Given the description of an element on the screen output the (x, y) to click on. 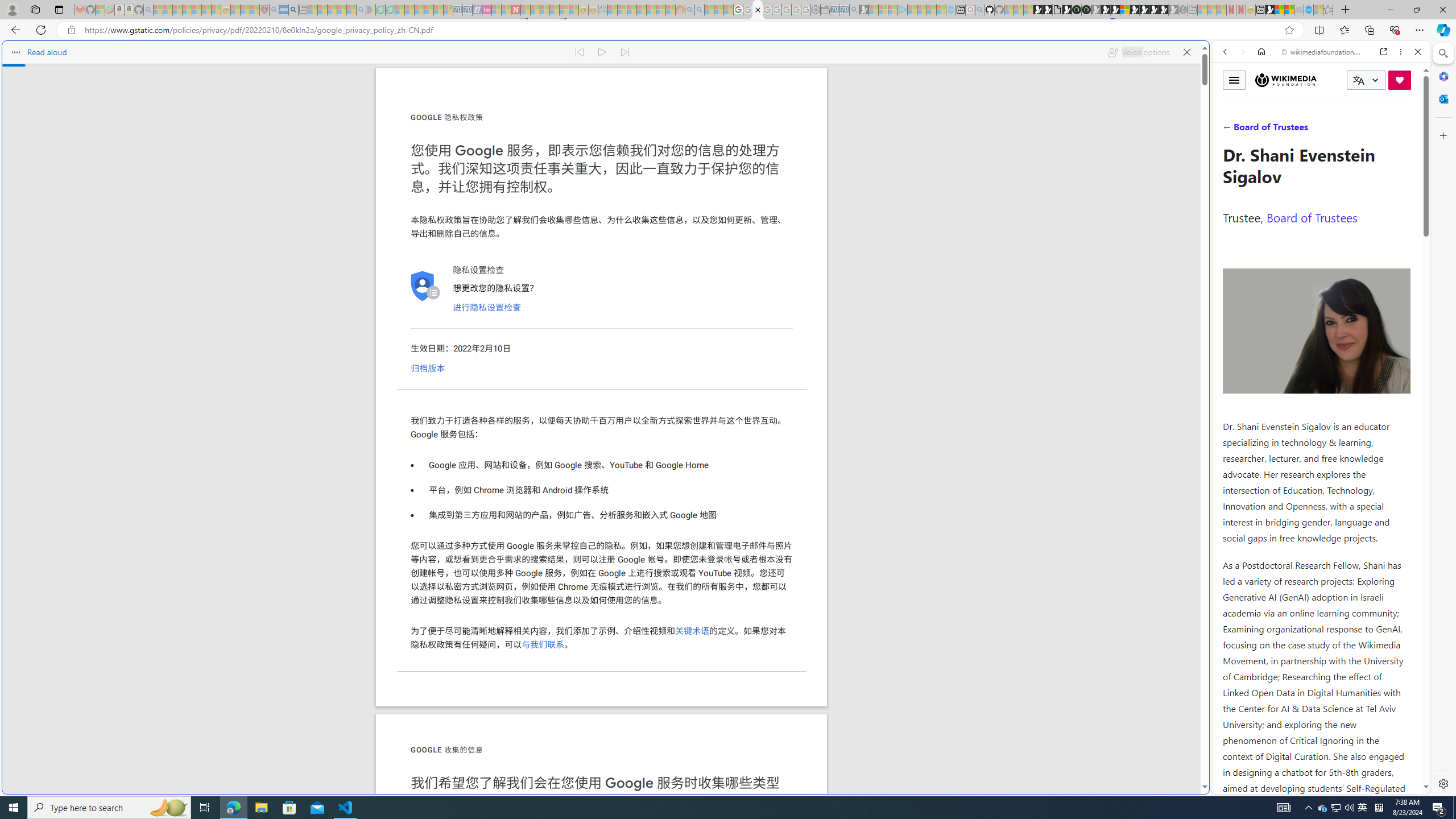
Close Outlook pane (1442, 98)
Close tab (757, 9)
New Tab (1346, 9)
Class: b_serphb (1404, 130)
Wallet - Sleeping (824, 9)
Actions for this site (1370, 583)
Microsoft account | Privacy - Sleeping (892, 9)
New tab (727, 683)
